Given the description of an element on the screen output the (x, y) to click on. 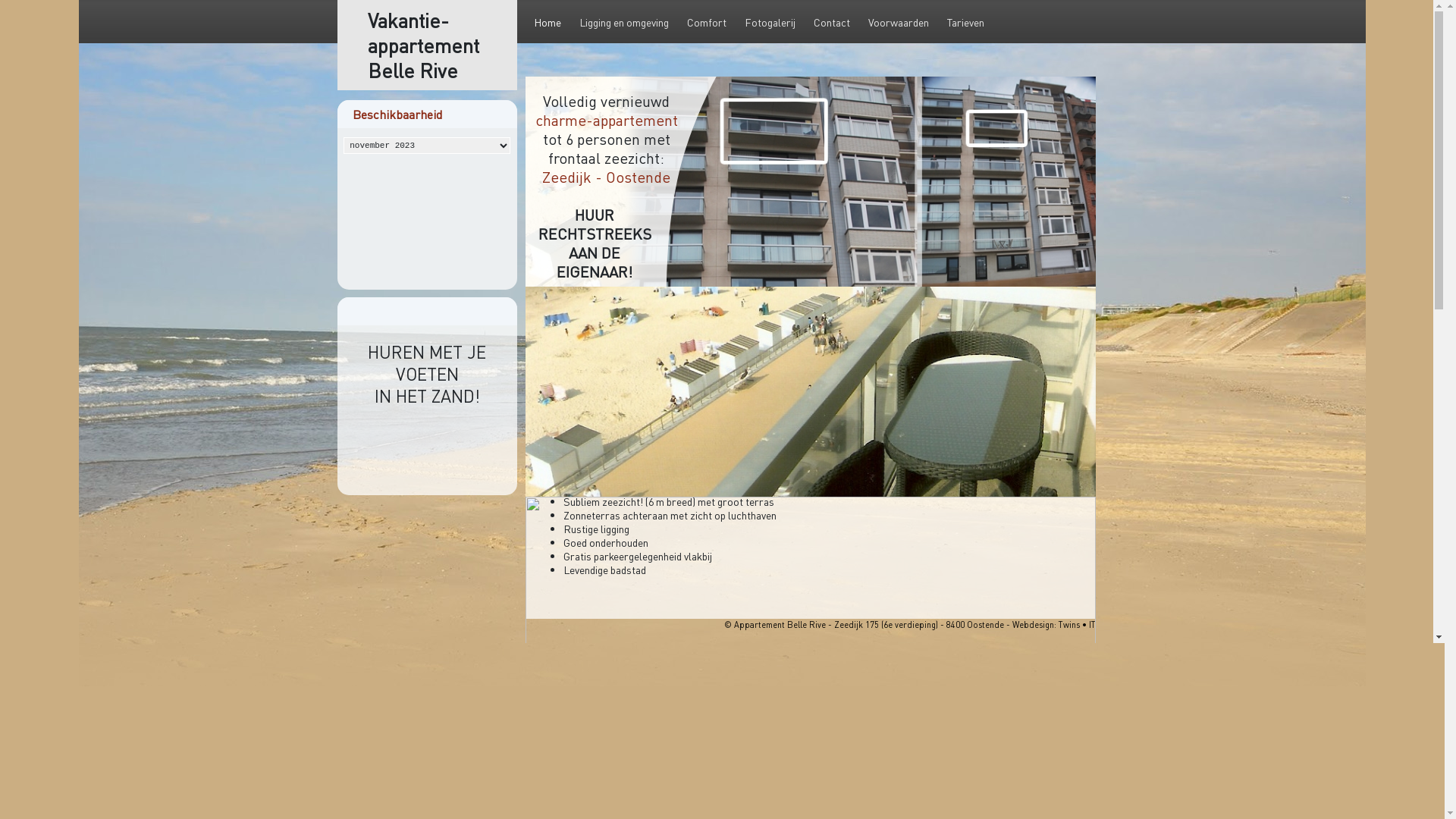
Contact Element type: text (831, 22)
Voorwaarden Element type: text (898, 22)
Comfort Element type: text (706, 22)
Tarieven Element type: text (965, 22)
Home Element type: text (551, 22)
Ligging en omgeving Element type: text (623, 22)
Fotogalerij Element type: text (769, 22)
